Given the description of an element on the screen output the (x, y) to click on. 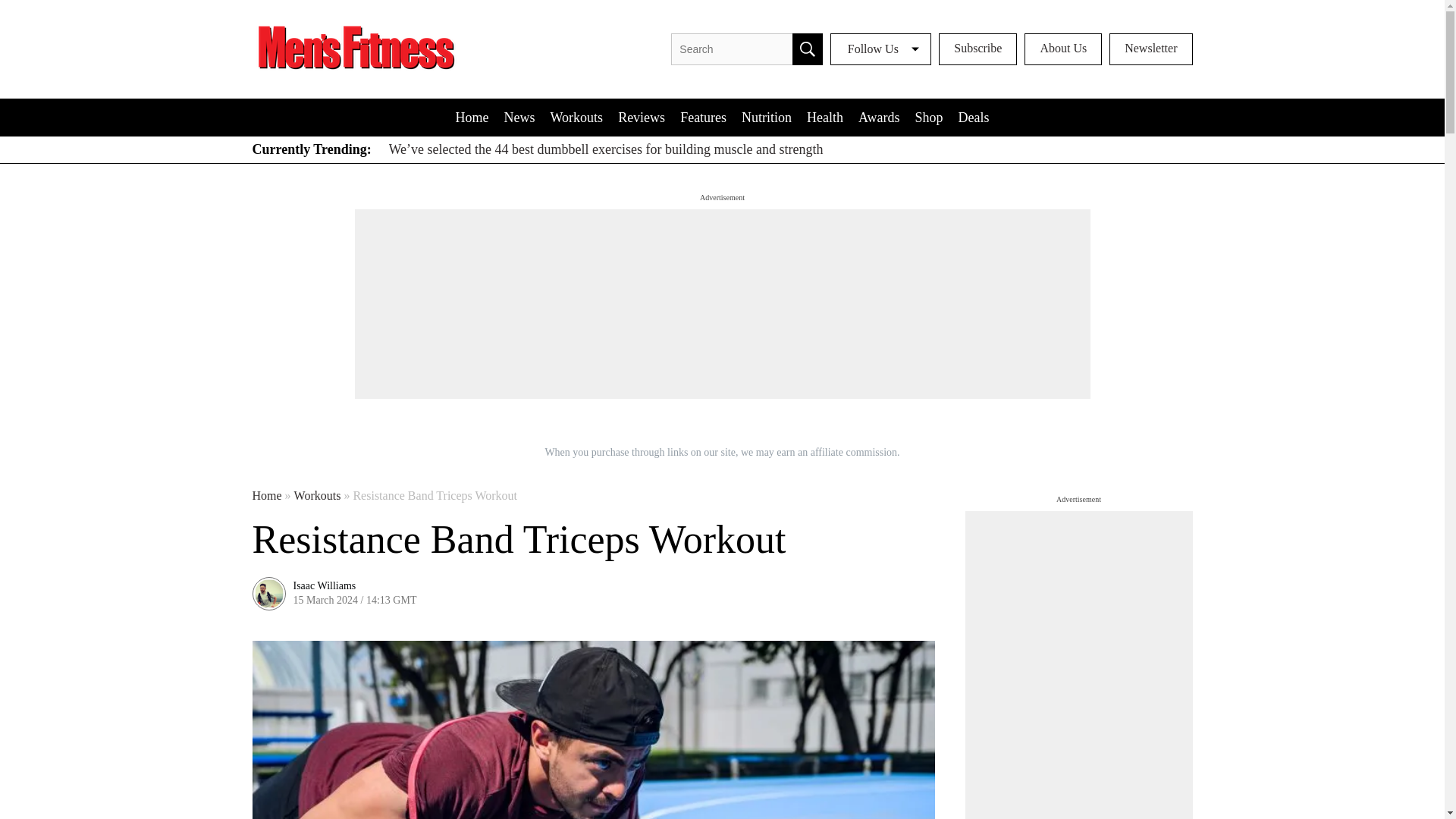
Search (807, 49)
Isaac Williams (323, 585)
About Us (1063, 49)
Subscribe (977, 49)
Nutrition (766, 117)
News (519, 117)
Newsletter (1150, 49)
Workouts (577, 117)
Follow Us (880, 49)
Deals (972, 117)
Home (472, 117)
Reviews (641, 117)
Workouts (317, 495)
data-awinignore data-noskim (977, 49)
Shop (928, 117)
